Given the description of an element on the screen output the (x, y) to click on. 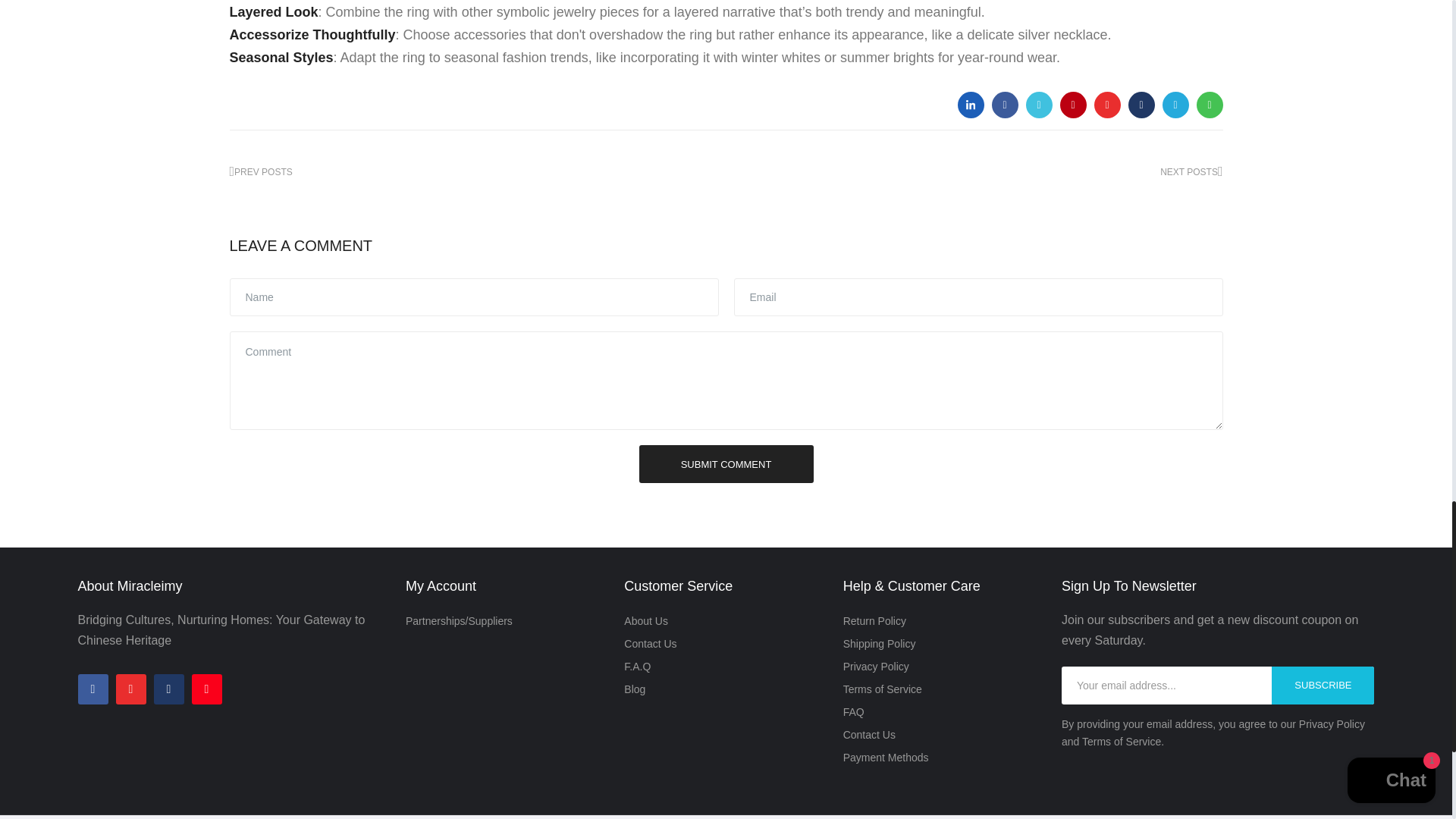
Share on Facebook (1004, 104)
Share on linkedin (970, 104)
Share on pinterest (1106, 104)
Share on twitter (1038, 104)
Facebook (92, 689)
Share on tumblr (1141, 104)
Share on whatsapp (1209, 104)
Share on telegram (1174, 104)
Share on email (1072, 104)
